Given the description of an element on the screen output the (x, y) to click on. 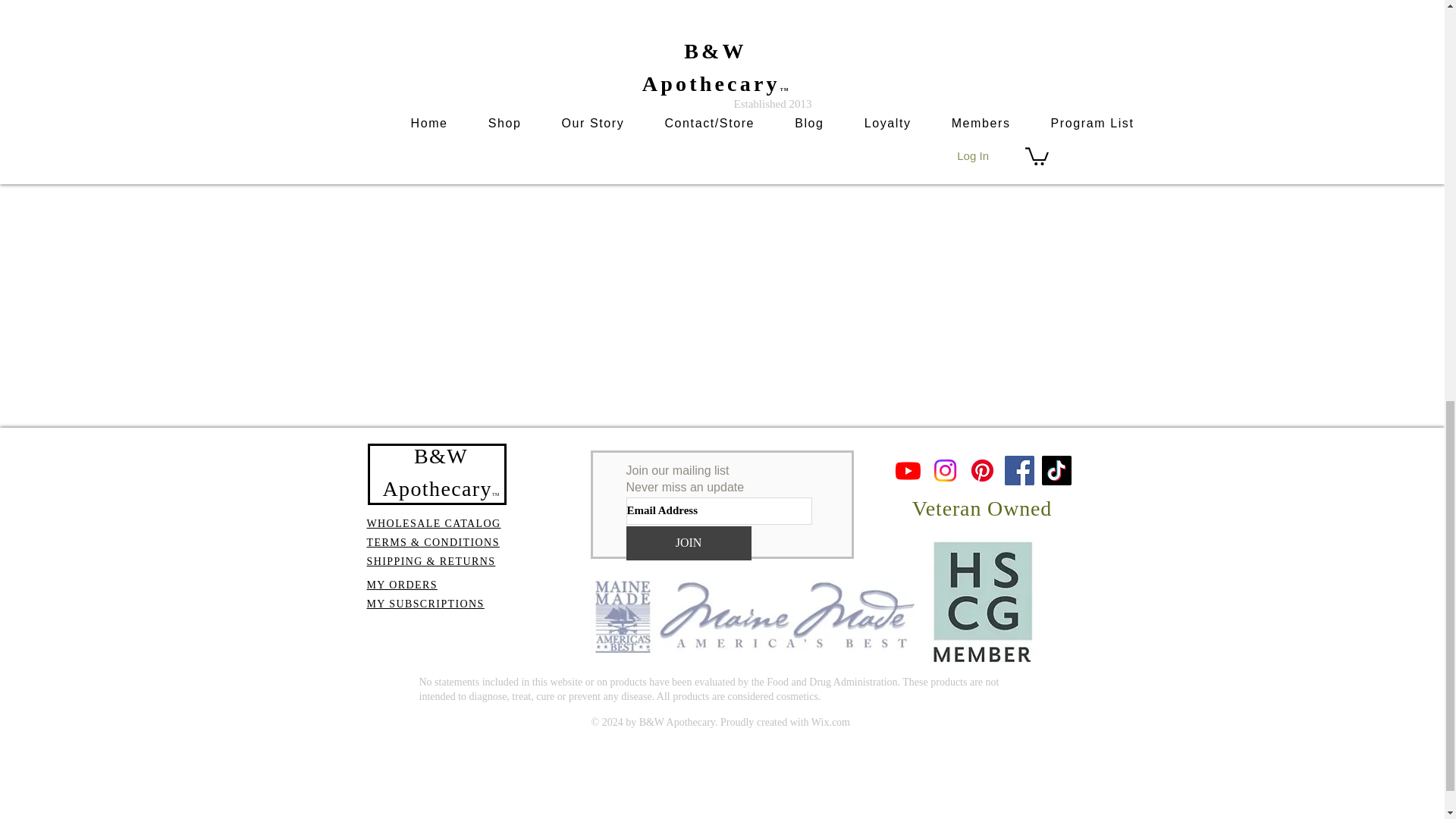
Wix.com (830, 722)
MY SUBSCRIPTIONS (425, 603)
WHOLESALE CATALOG (433, 523)
MY ORDERS (402, 584)
JOIN (688, 543)
